Given the description of an element on the screen output the (x, y) to click on. 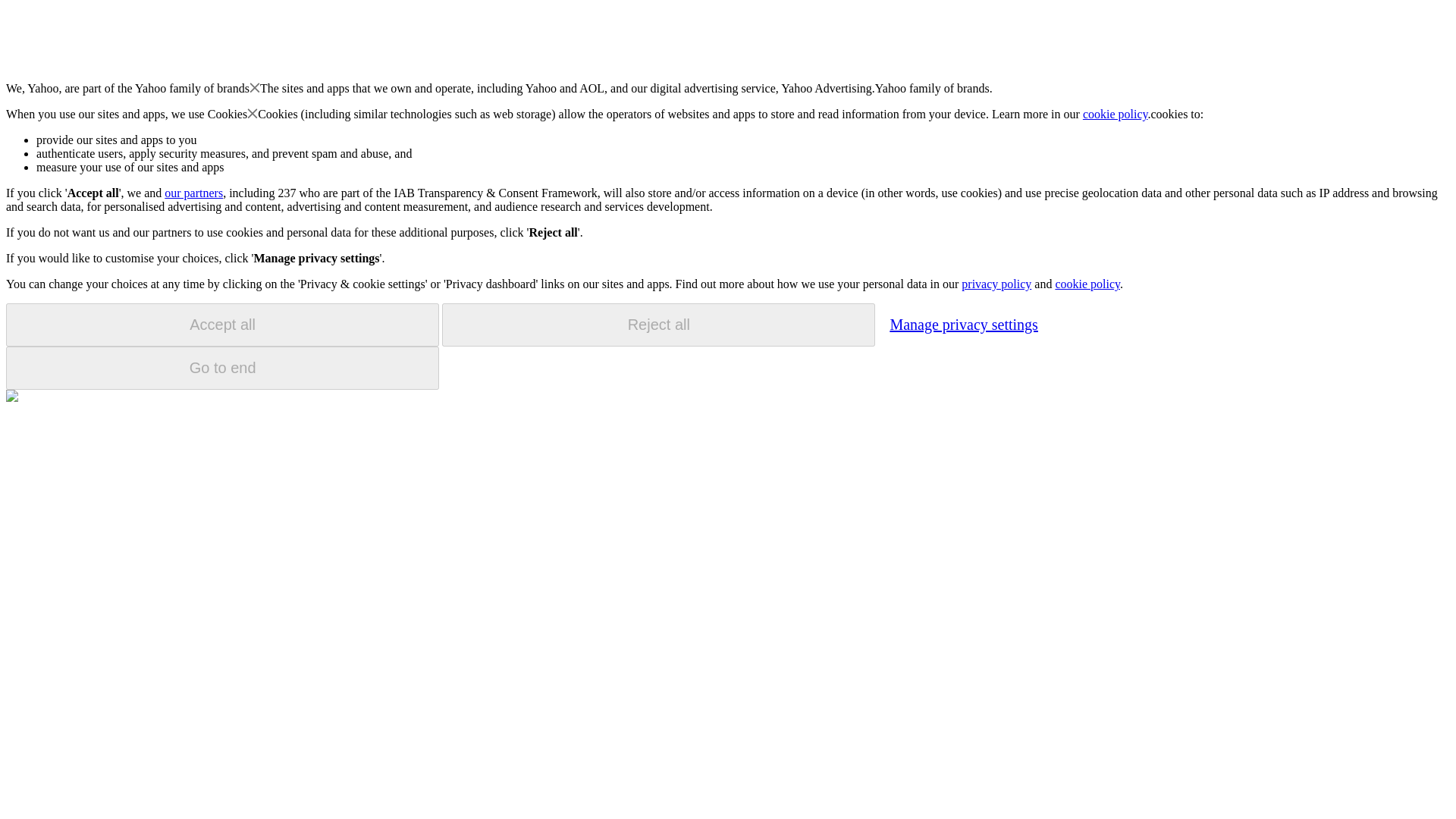
our partners (193, 192)
Accept all (222, 324)
Go to end (222, 367)
privacy policy (995, 283)
Manage privacy settings (963, 323)
cookie policy (1115, 113)
cookie policy (1086, 283)
Reject all (658, 324)
